Given the description of an element on the screen output the (x, y) to click on. 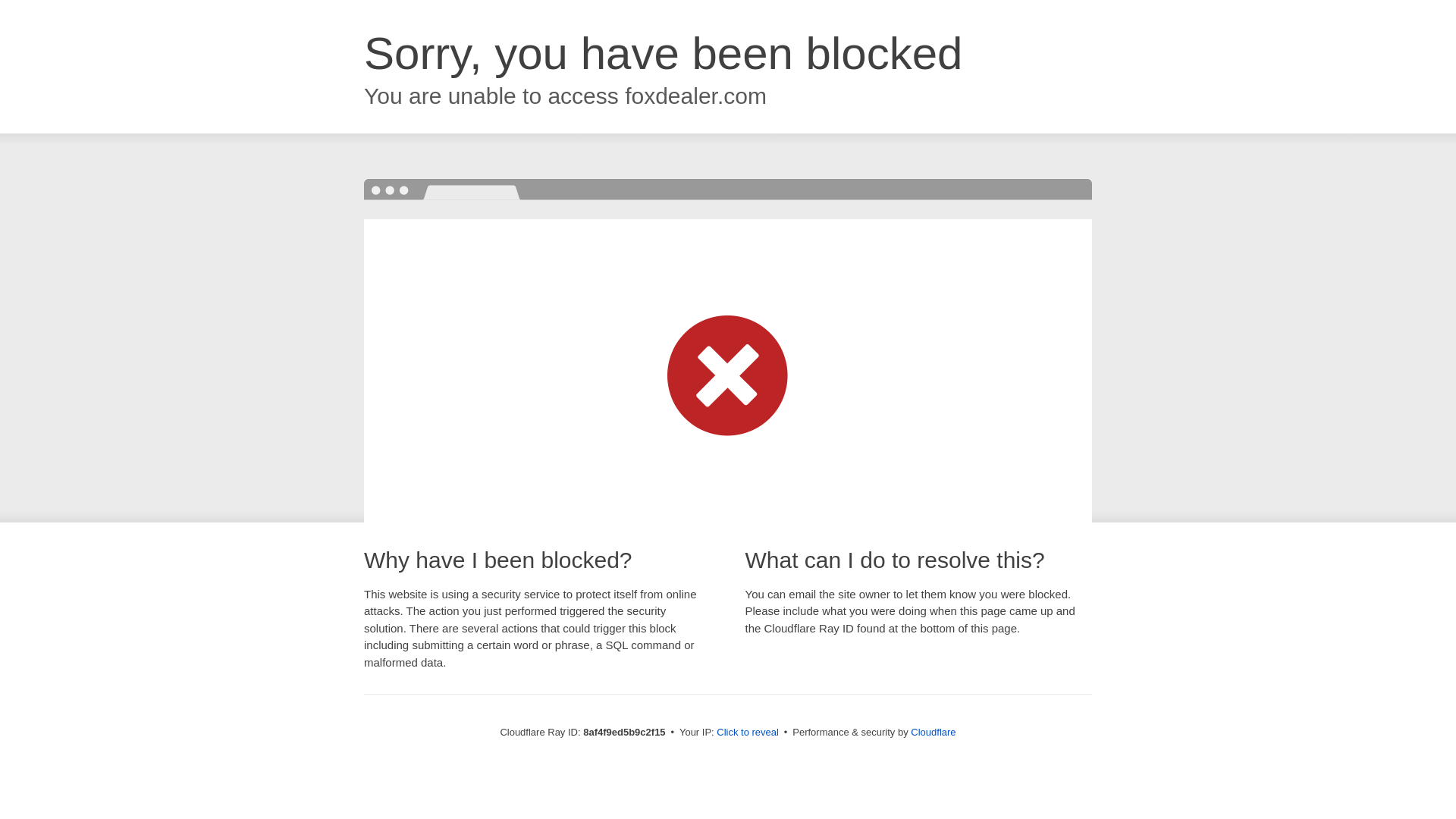
Click to reveal (747, 732)
Cloudflare (933, 731)
